Given the description of an element on the screen output the (x, y) to click on. 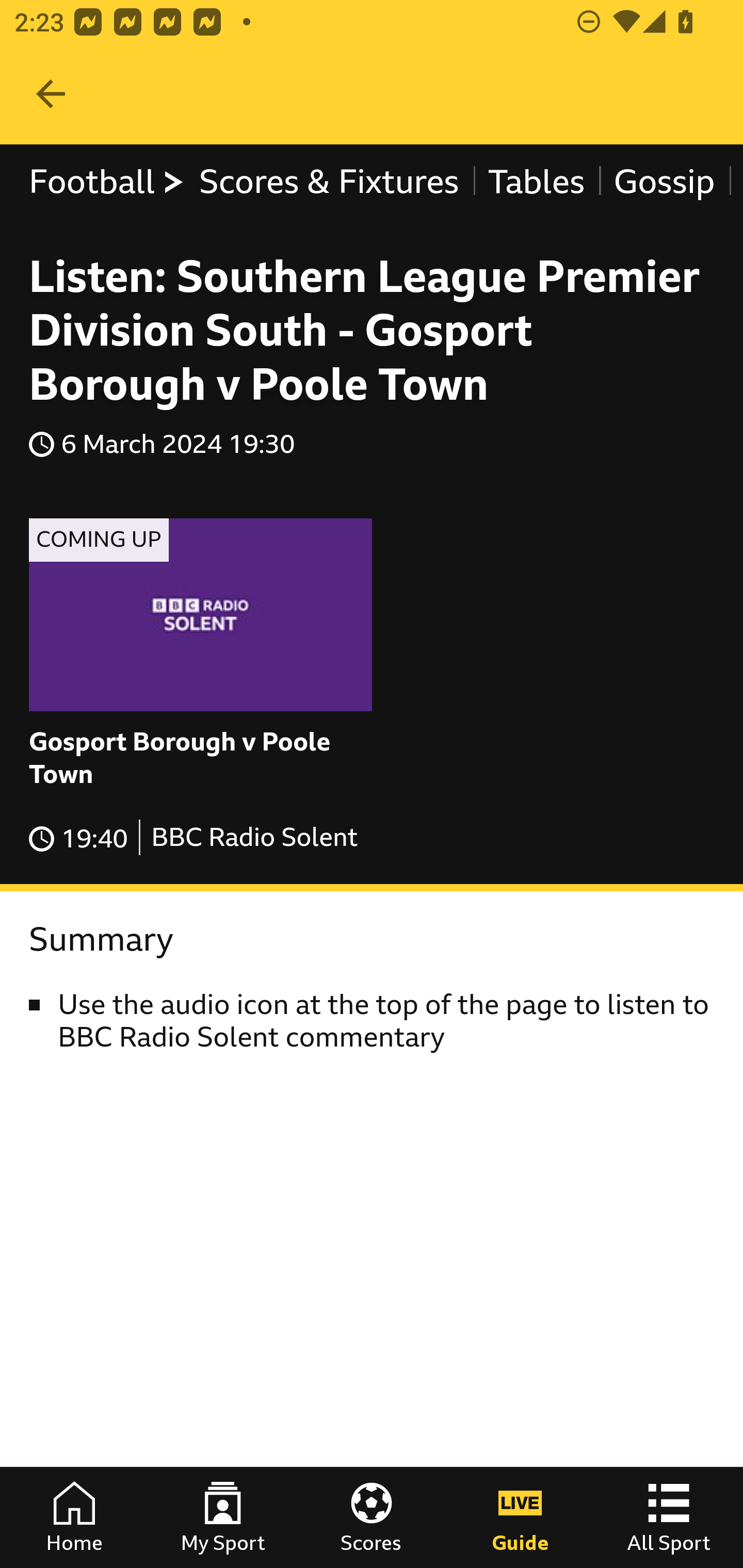
Navigate up (50, 93)
Football  (106, 181)
Scores & Fixtures (329, 181)
Tables (536, 181)
Gossip (664, 181)
Home (74, 1517)
My Sport (222, 1517)
Scores (371, 1517)
All Sport (668, 1517)
